Given the description of an element on the screen output the (x, y) to click on. 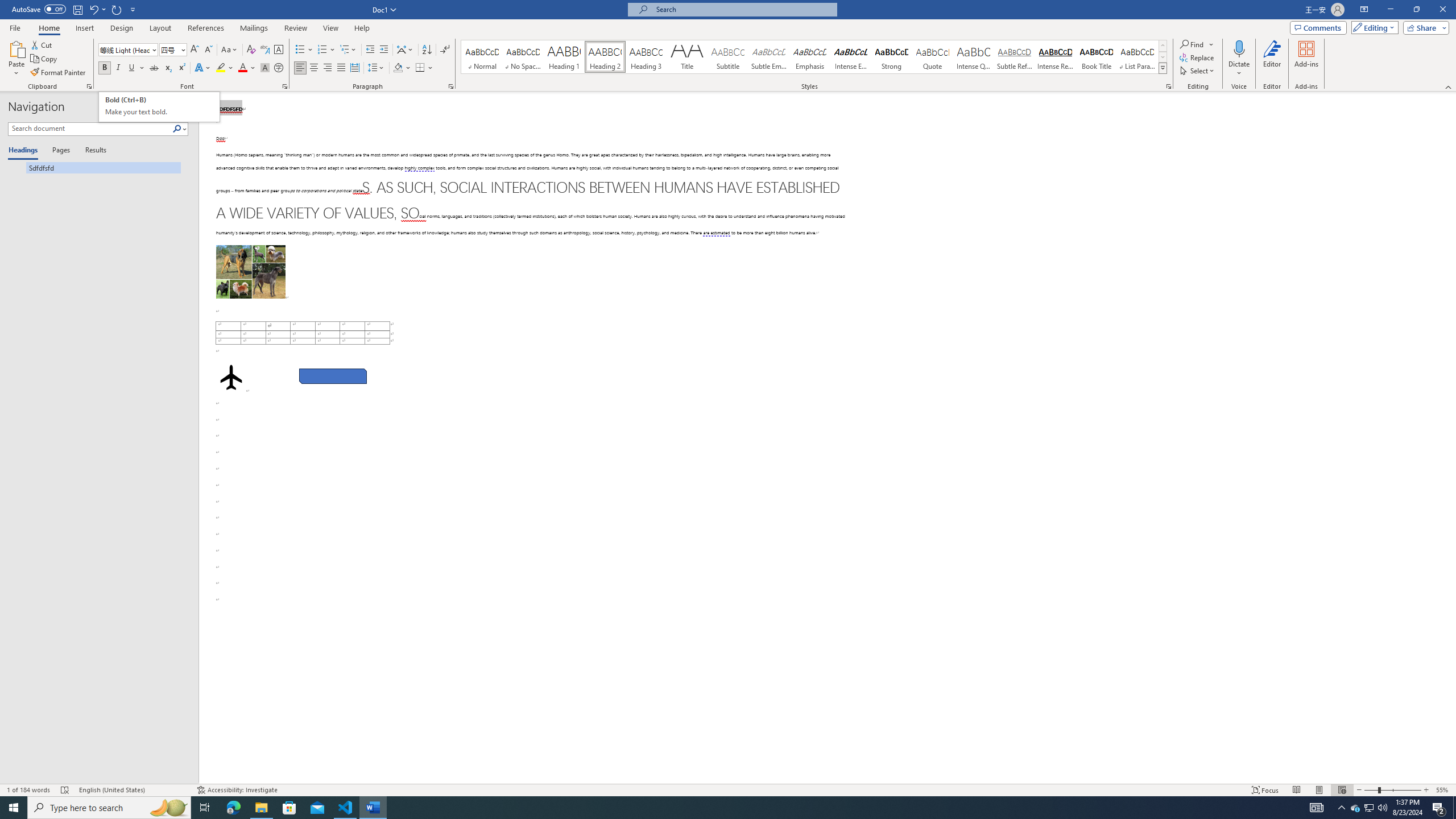
Zoom In (1426, 790)
Save (77, 9)
Show/Hide Editing Marks (444, 49)
Justify (340, 67)
Zoom (1392, 790)
Heading 3 (646, 56)
Superscript (180, 67)
Align Right (327, 67)
View (330, 28)
Styles... (1168, 85)
Strikethrough (154, 67)
Row up (1162, 45)
